Given the description of an element on the screen output the (x, y) to click on. 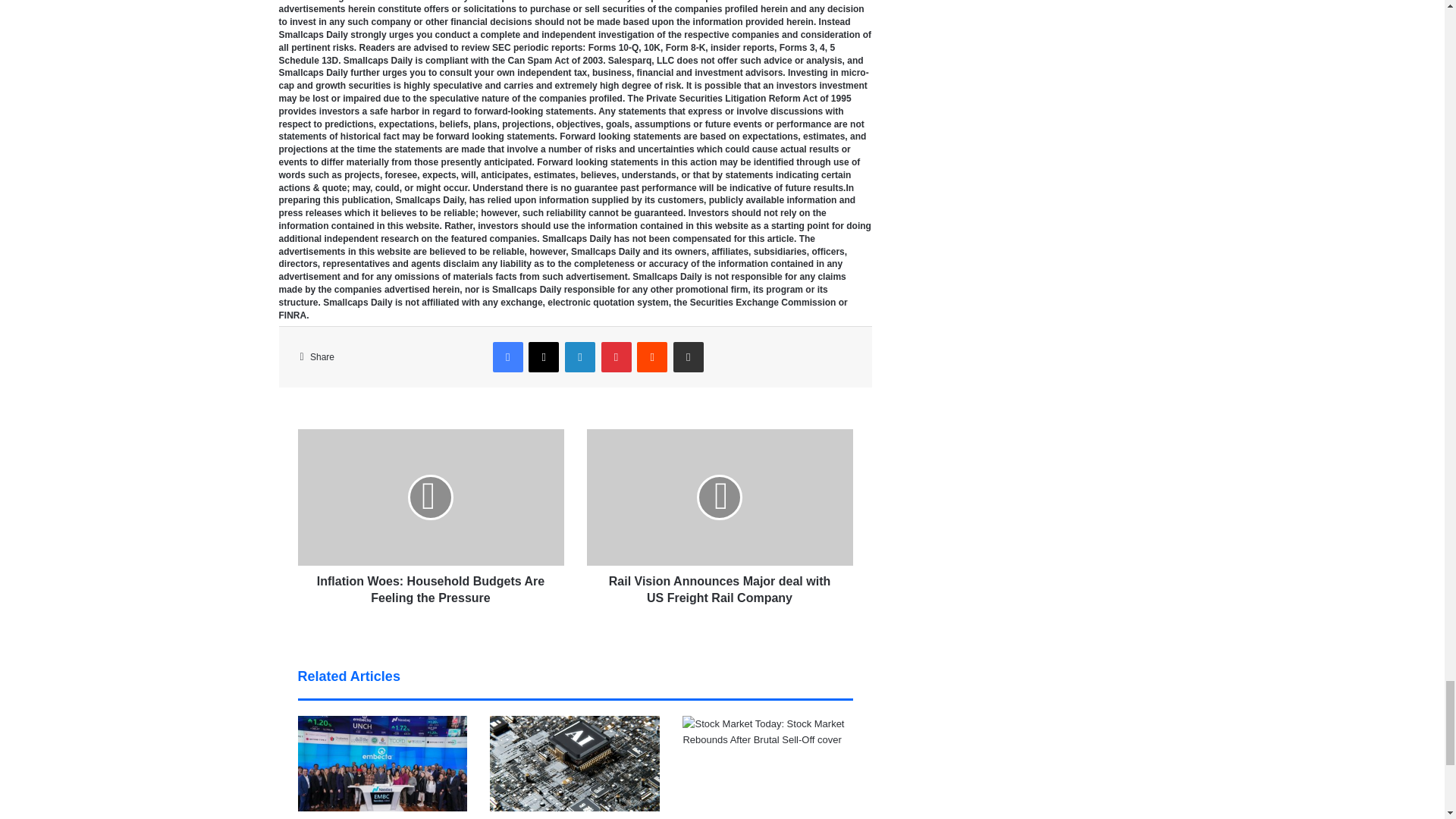
Facebook (507, 357)
Reddit (651, 357)
LinkedIn (579, 357)
LinkedIn (579, 357)
X (543, 357)
Pinterest (616, 357)
Reddit (651, 357)
Share via Email (687, 357)
Pinterest (616, 357)
X (543, 357)
